Given the description of an element on the screen output the (x, y) to click on. 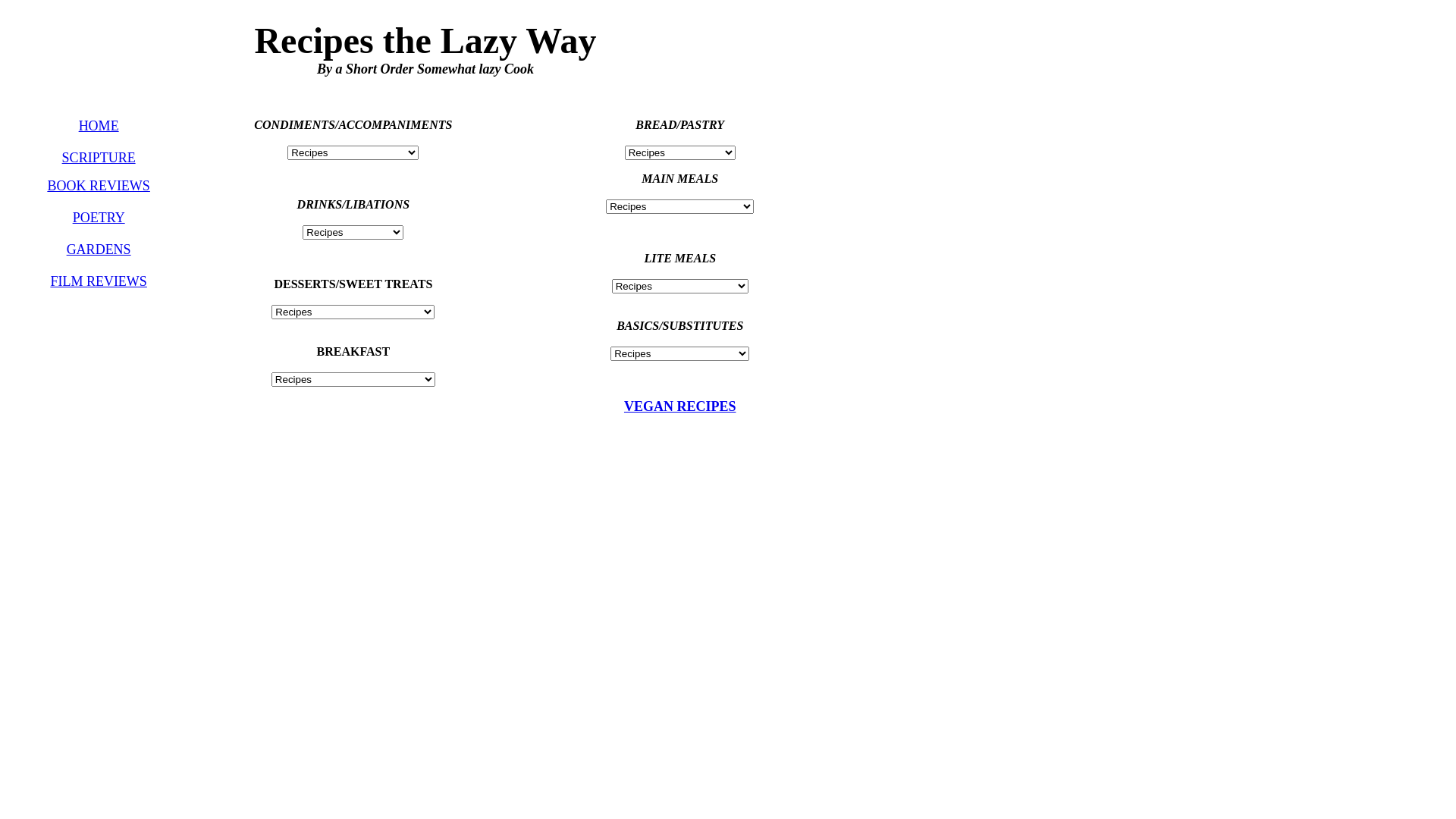
VEGAN RECIPES Element type: text (680, 406)
BOOK REVIEWS Element type: text (98, 185)
GARDENS Element type: text (98, 249)
SCRIPTURE Element type: text (98, 157)
FILM REVIEWS Element type: text (98, 280)
POETRY Element type: text (98, 217)
HOME Element type: text (98, 125)
